Given the description of an element on the screen output the (x, y) to click on. 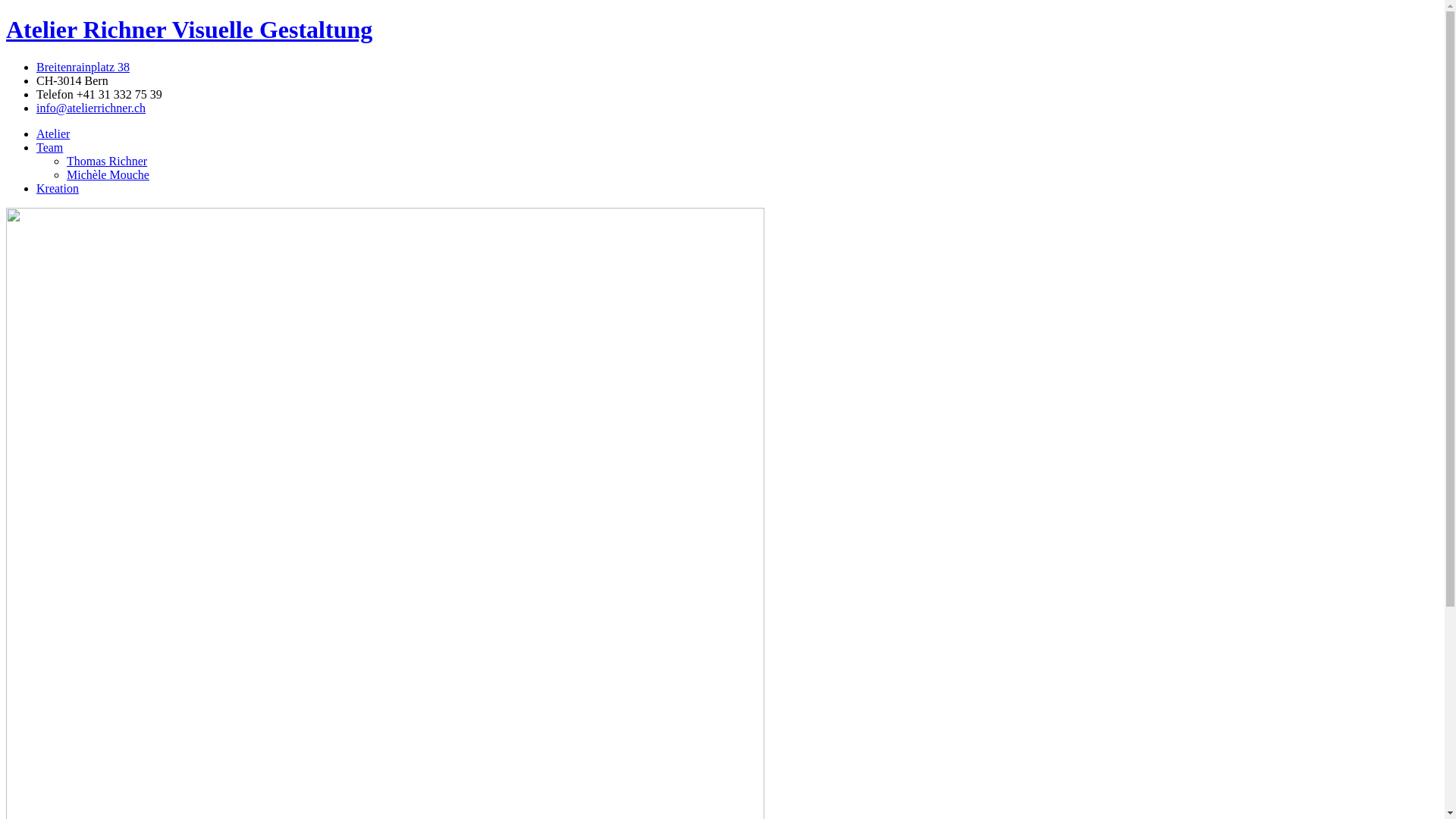
info@atelierrichner.ch Element type: text (90, 107)
Breitenrainplatz 38 Element type: text (82, 66)
Kreation Element type: text (57, 188)
Atelier Richner Visuelle Gestaltung Element type: text (189, 29)
Team Element type: text (49, 147)
Thomas Richner Element type: text (106, 160)
Atelier Element type: text (52, 133)
